Given the description of an element on the screen output the (x, y) to click on. 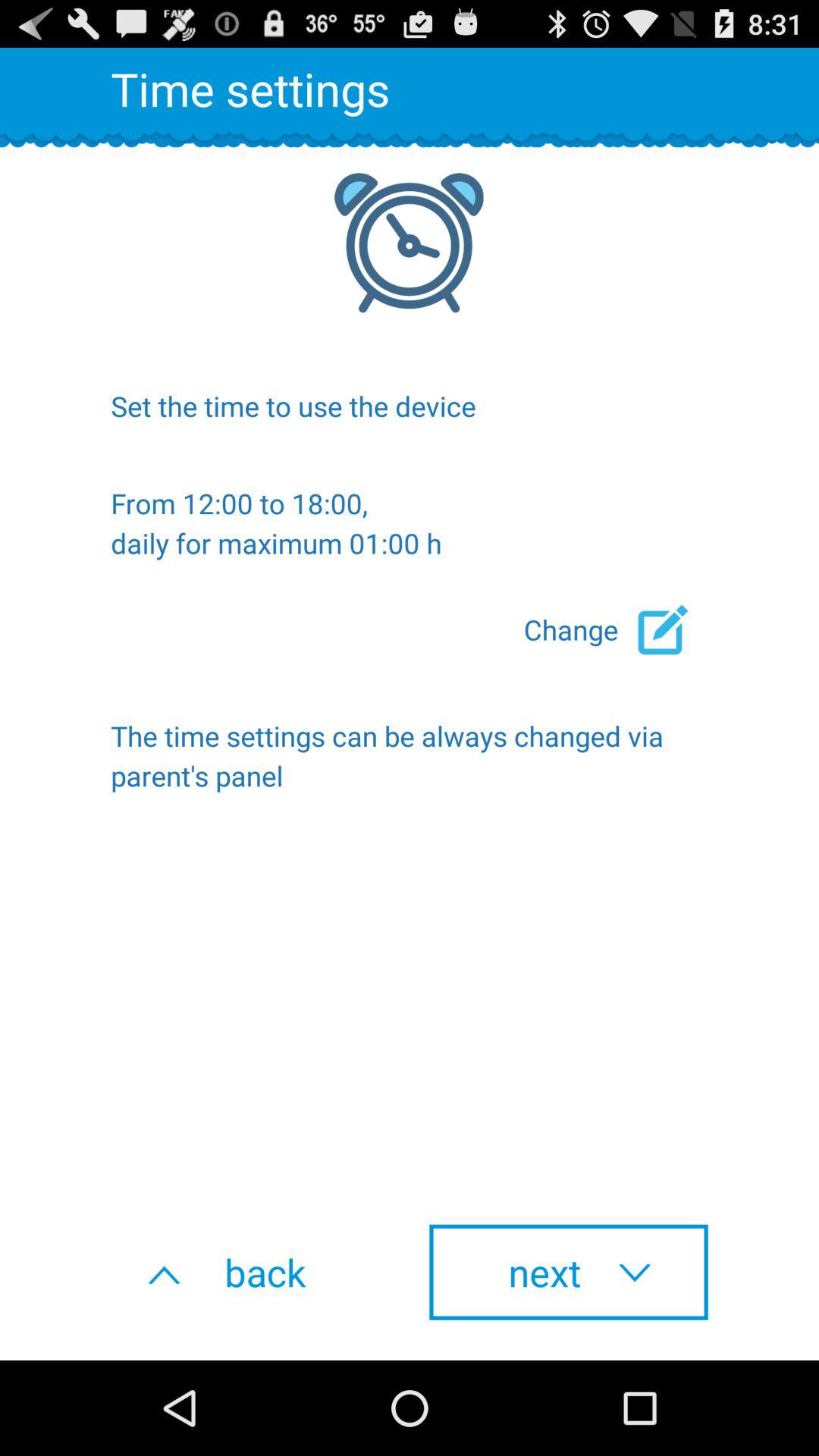
press back item (249, 1272)
